Given the description of an element on the screen output the (x, y) to click on. 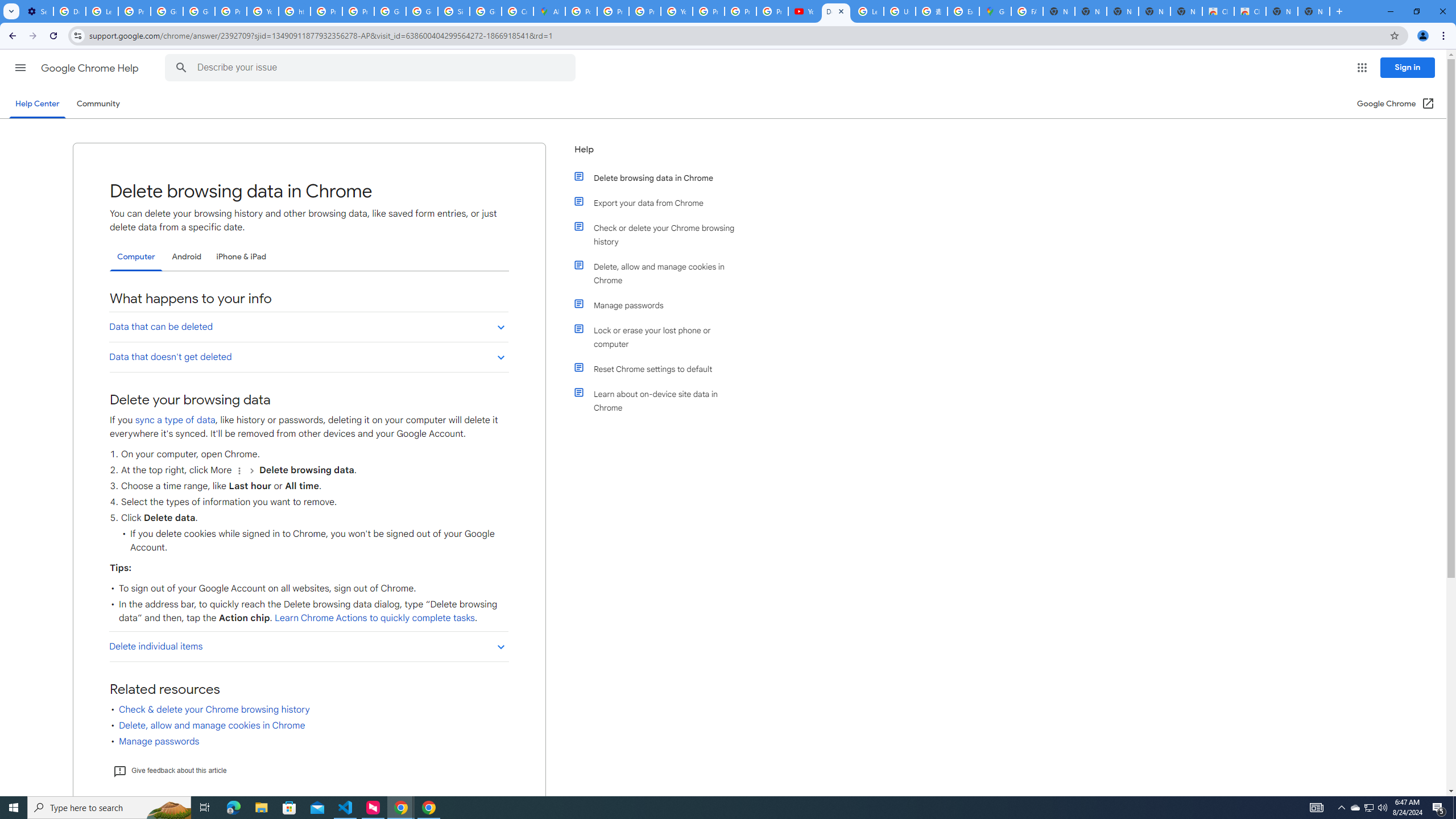
and then (251, 470)
Reset Chrome settings to default (661, 368)
Google Account Help (166, 11)
Privacy Checkup (740, 11)
